Given the description of an element on the screen output the (x, y) to click on. 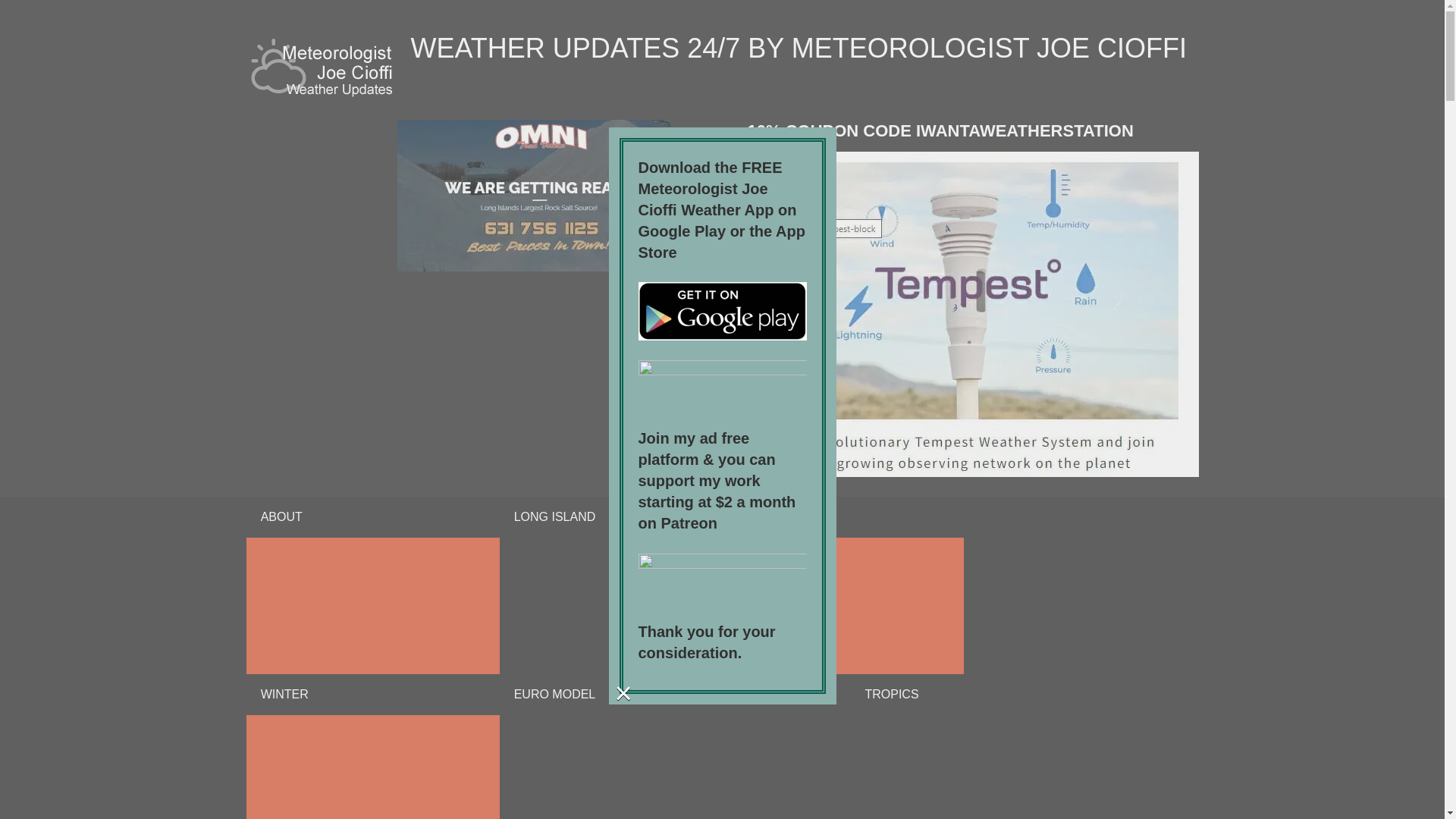
Expand child menu (372, 766)
LONG ISLAND (554, 517)
SEVERE WX (660, 694)
MARINE OUTLOOK (780, 694)
TROPICS (891, 694)
FORECASTS (836, 517)
Expand child menu (836, 605)
ABOUT (372, 517)
EURO MODEL (554, 694)
Expand child menu (372, 605)
